Given the description of an element on the screen output the (x, y) to click on. 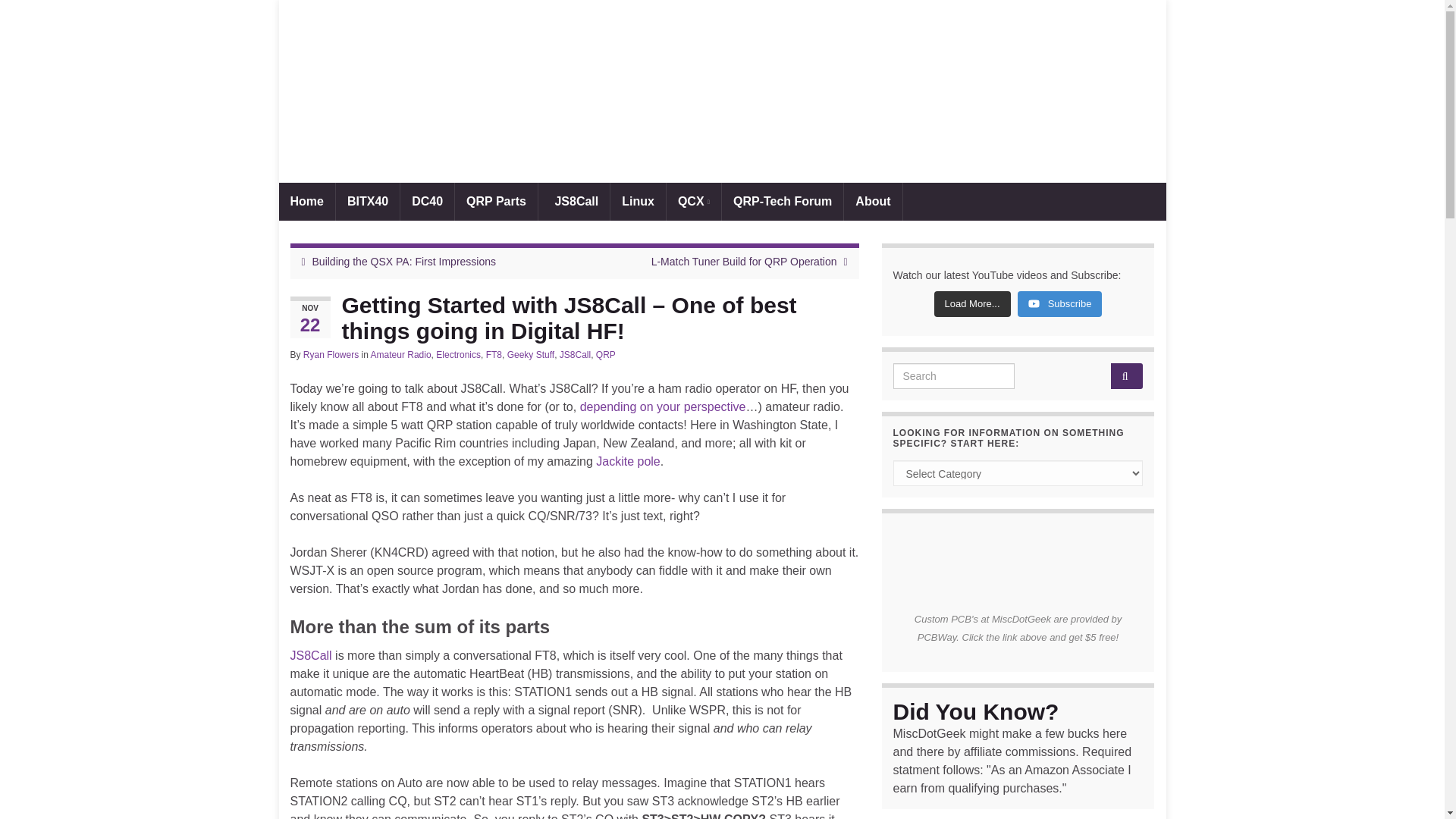
Ryan Flowers (330, 354)
Home (306, 201)
JS8Call (574, 201)
Electronics (457, 354)
L-Match Tuner Build for QRP Operation (743, 261)
Linux (637, 201)
QRP Parts (495, 201)
BITX40 (367, 201)
FT8 (494, 354)
JS8Call (575, 354)
